Given the description of an element on the screen output the (x, y) to click on. 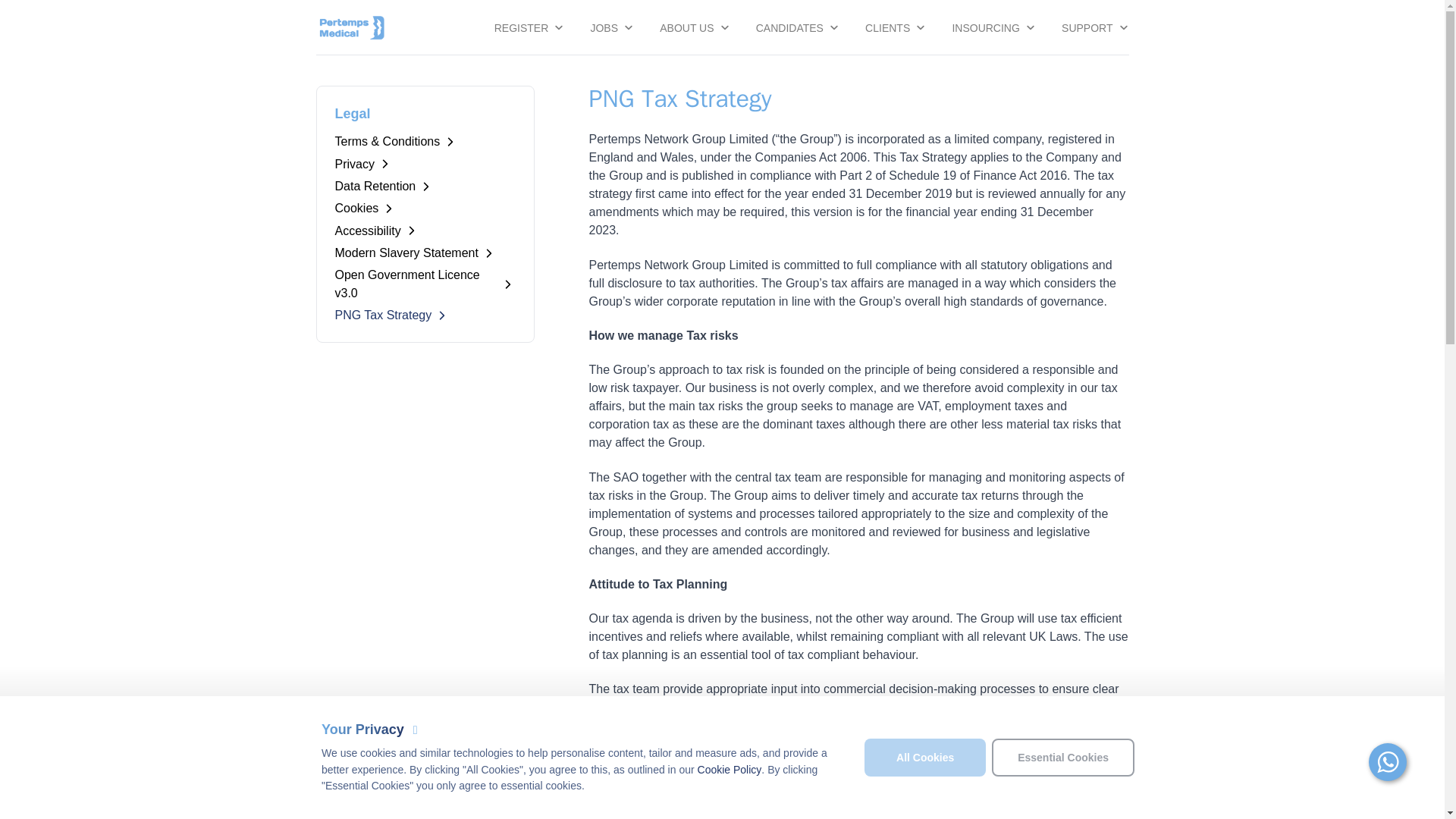
Open Candidates dropdown (796, 27)
Home (351, 27)
Open Insourcing dropdown (992, 27)
REGISTER (528, 27)
Open Jobs dropdown (611, 27)
ABOUT US (694, 27)
Open Register dropdown (528, 27)
Cookie Policy (729, 770)
SUPPORT (1094, 27)
Accept All Cookies (924, 757)
All Cookies (924, 757)
Accept Essential Cookies (1062, 757)
Open Clients dropdown (894, 27)
Open Support dropdown (1094, 27)
Open About Us dropdown (694, 27)
